Given the description of an element on the screen output the (x, y) to click on. 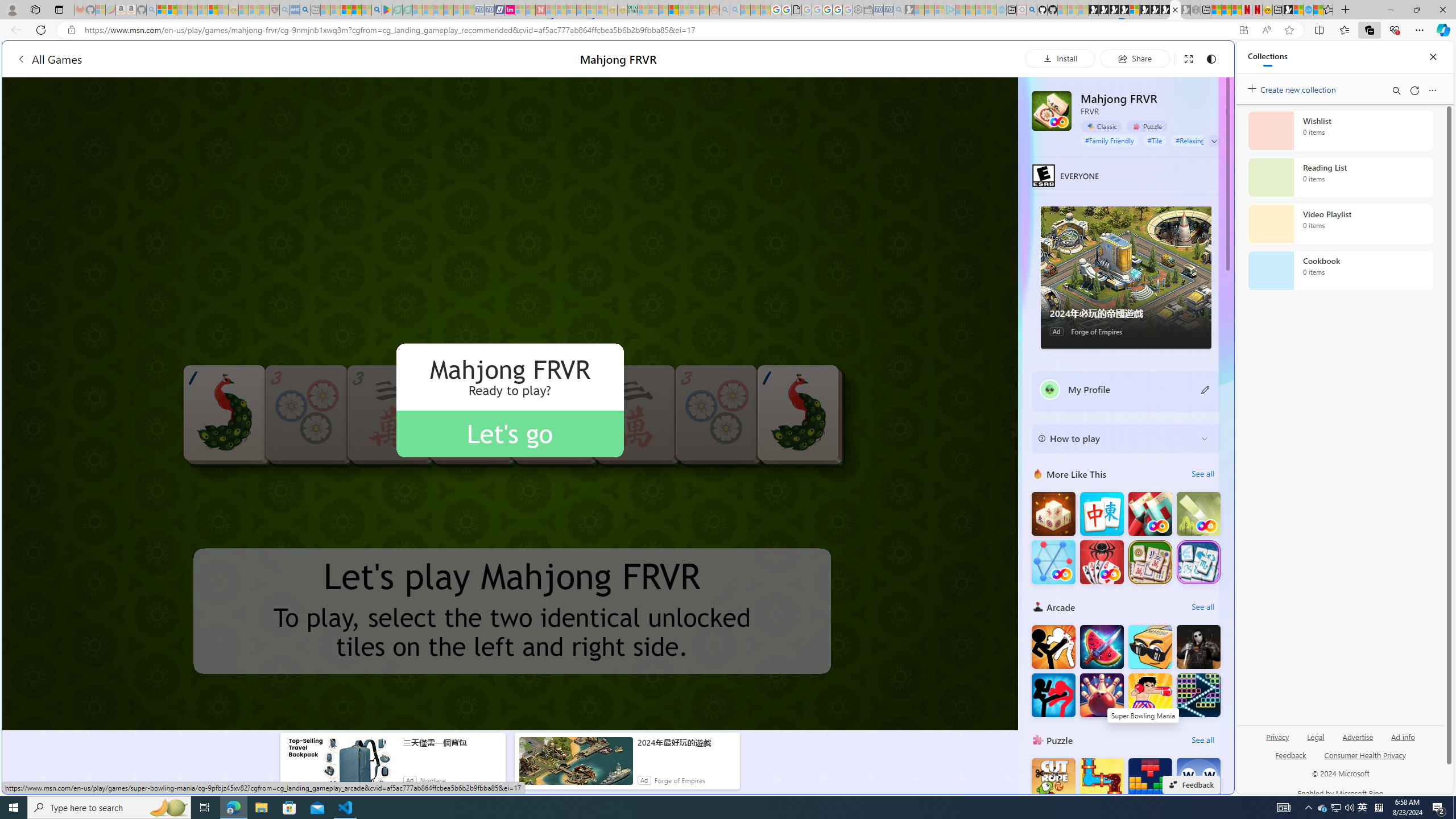
Pets - MSN (356, 9)
Local - MSN - Sleeping (263, 9)
Cookbook collection, 0 items (1339, 270)
